Given the description of an element on the screen output the (x, y) to click on. 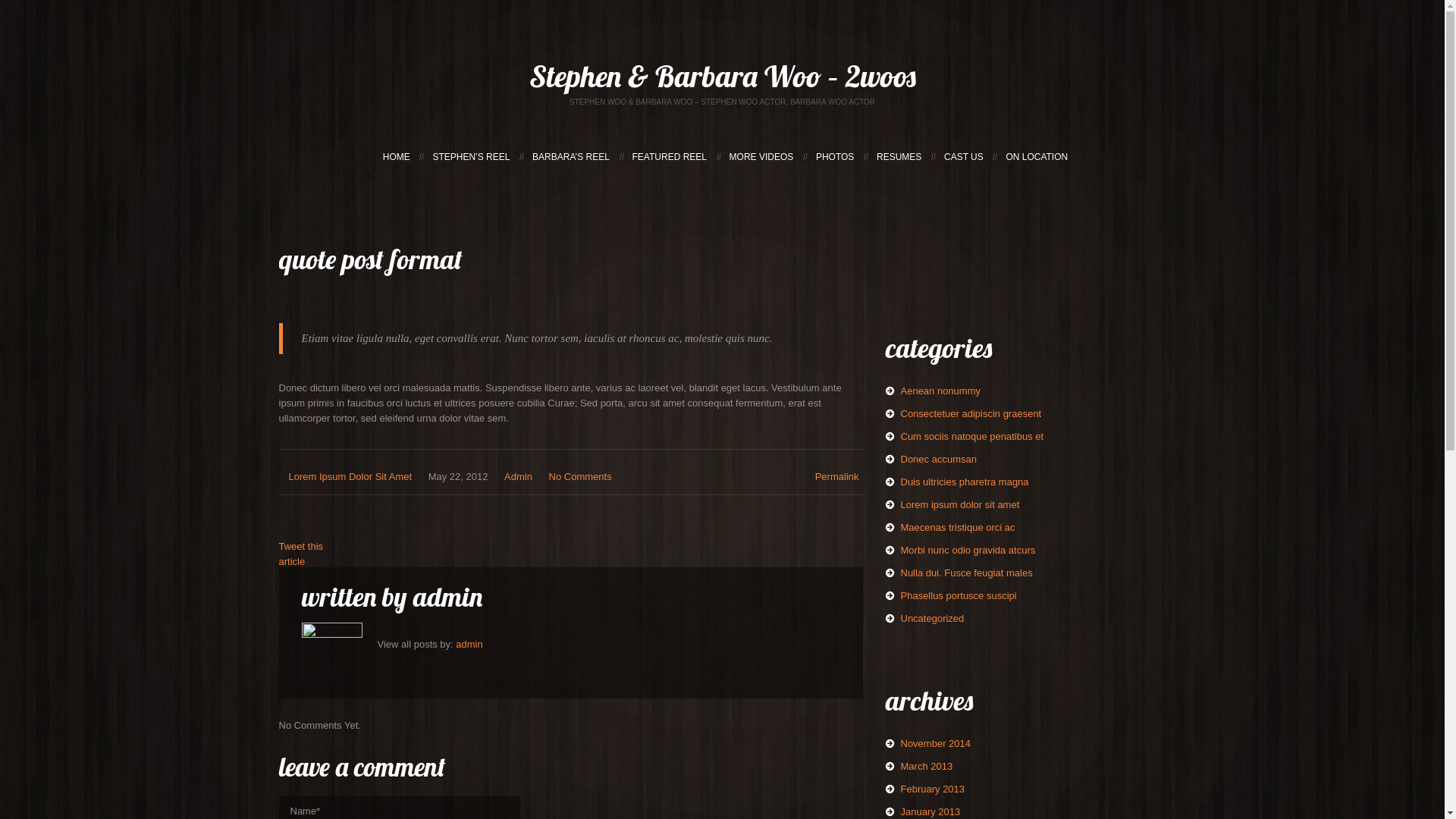
January 2013 Element type: text (930, 811)
ON LOCATION Element type: text (1036, 156)
February 2013 Element type: text (932, 788)
RESUMES Element type: text (898, 156)
PHOTOS Element type: text (834, 156)
Lorem Ipsum Dolor Sit Amet Element type: text (349, 476)
No Comments Element type: text (580, 476)
Aenean nonummy Element type: text (940, 390)
admin Element type: text (446, 596)
MORE VIDEOS Element type: text (761, 156)
Nulla dui. Fusce feugiat males Element type: text (966, 572)
FEATURED REEL Element type: text (669, 156)
Admin Element type: text (518, 476)
admin Element type: text (468, 643)
Lorem ipsum dolor sit amet Element type: text (959, 504)
Phasellus portusce suscipi Element type: text (958, 595)
CAST US Element type: text (963, 156)
Cum sociis natoque penatibus et Element type: text (972, 436)
Tweet this article Element type: text (301, 553)
Duis ultricies pharetra magna Element type: text (964, 481)
Morbi nunc odio gravida atcurs Element type: text (967, 549)
March 2013 Element type: text (926, 765)
Permalink Element type: text (837, 476)
Maecenas tristique orci ac Element type: text (957, 527)
Consectetuer adipiscin graesent Element type: text (970, 413)
Uncategorized Element type: text (932, 618)
November 2014 Element type: text (935, 743)
HOME Element type: text (396, 156)
Donec accumsan Element type: text (938, 458)
